Given the description of an element on the screen output the (x, y) to click on. 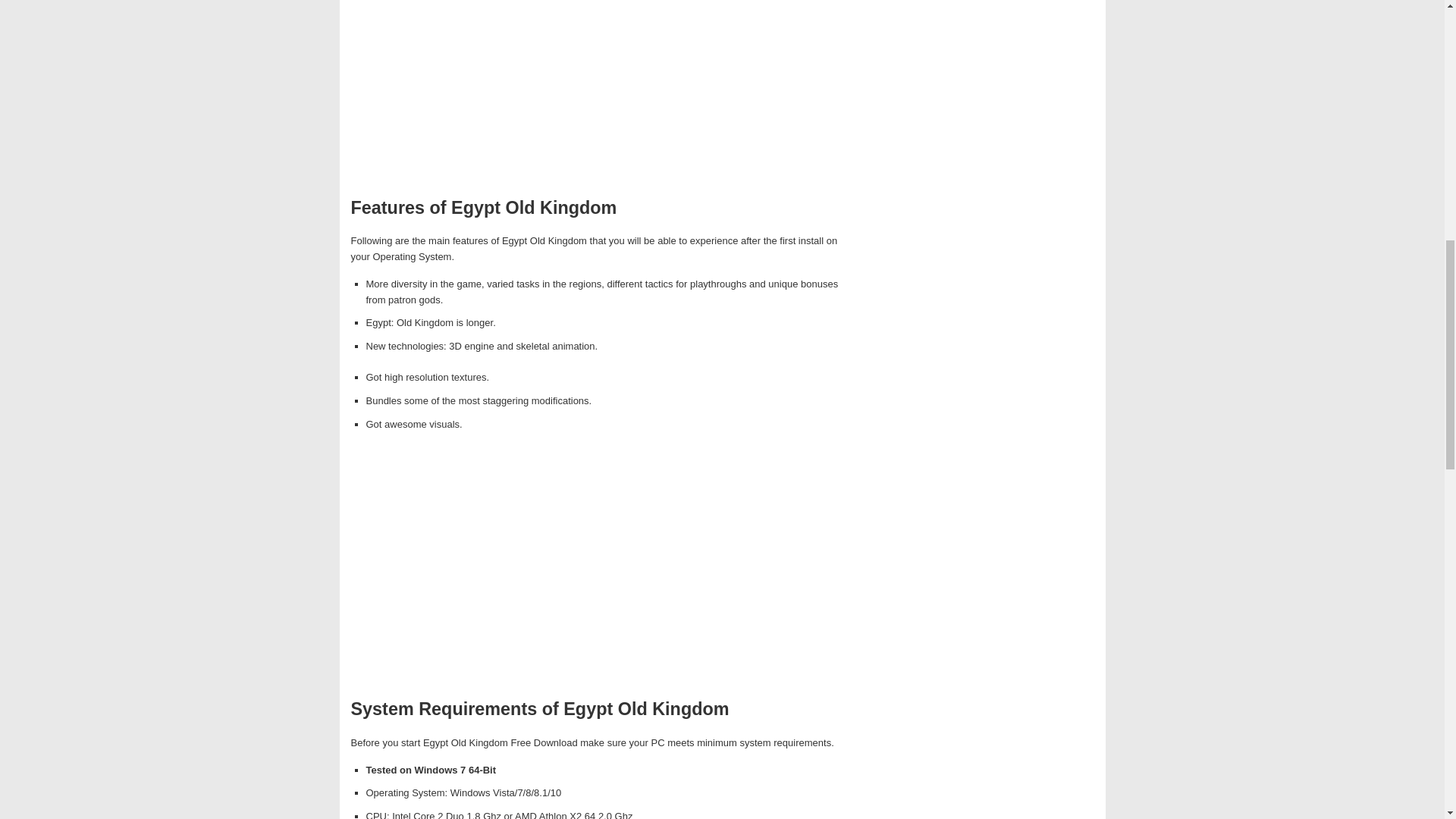
Egypt Old Kingdom Free Download 3 (600, 565)
Egypt Old Kingdom Free Download 2 (600, 91)
